Given the description of an element on the screen output the (x, y) to click on. 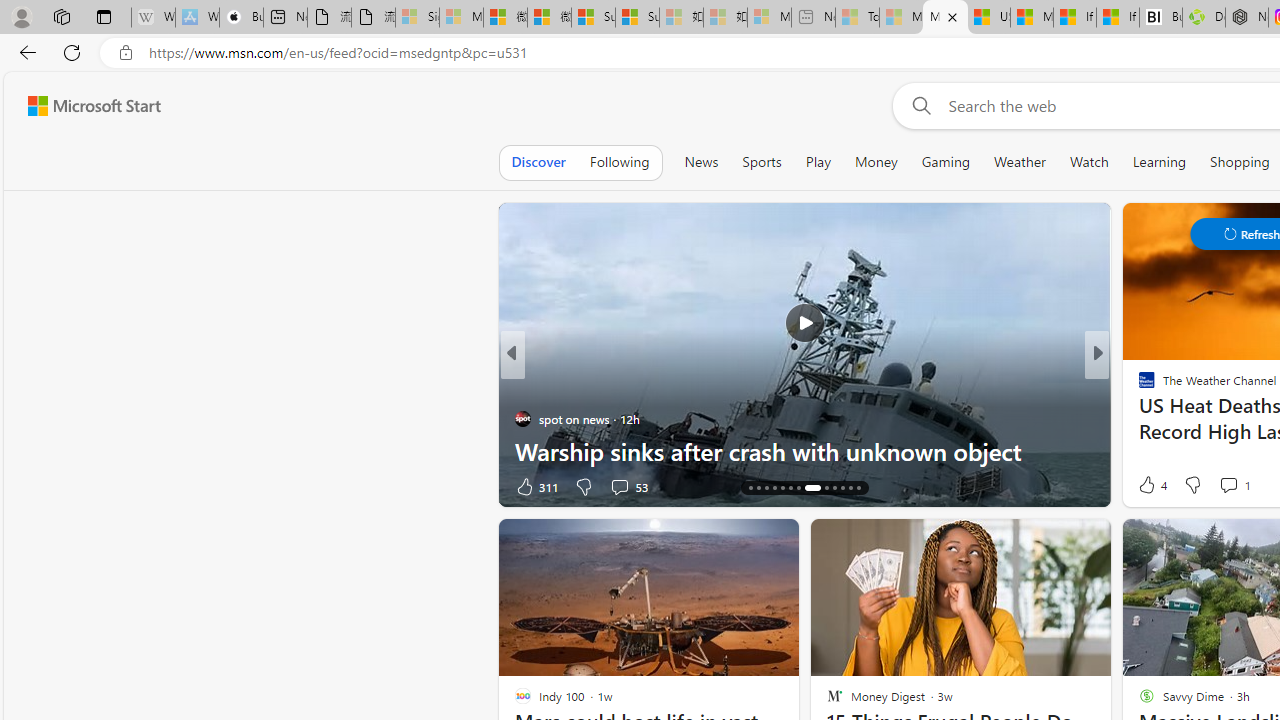
AutomationID: tab-26 (857, 487)
View comments 53 Comment (628, 486)
AutomationID: tab-23 (833, 487)
AutomationID: tab-18 (782, 487)
BBC (1138, 386)
Sign in to your Microsoft account - Sleeping (417, 17)
Microsoft Services Agreement - Sleeping (461, 17)
AutomationID: tab-17 (774, 487)
